Given the description of an element on the screen output the (x, y) to click on. 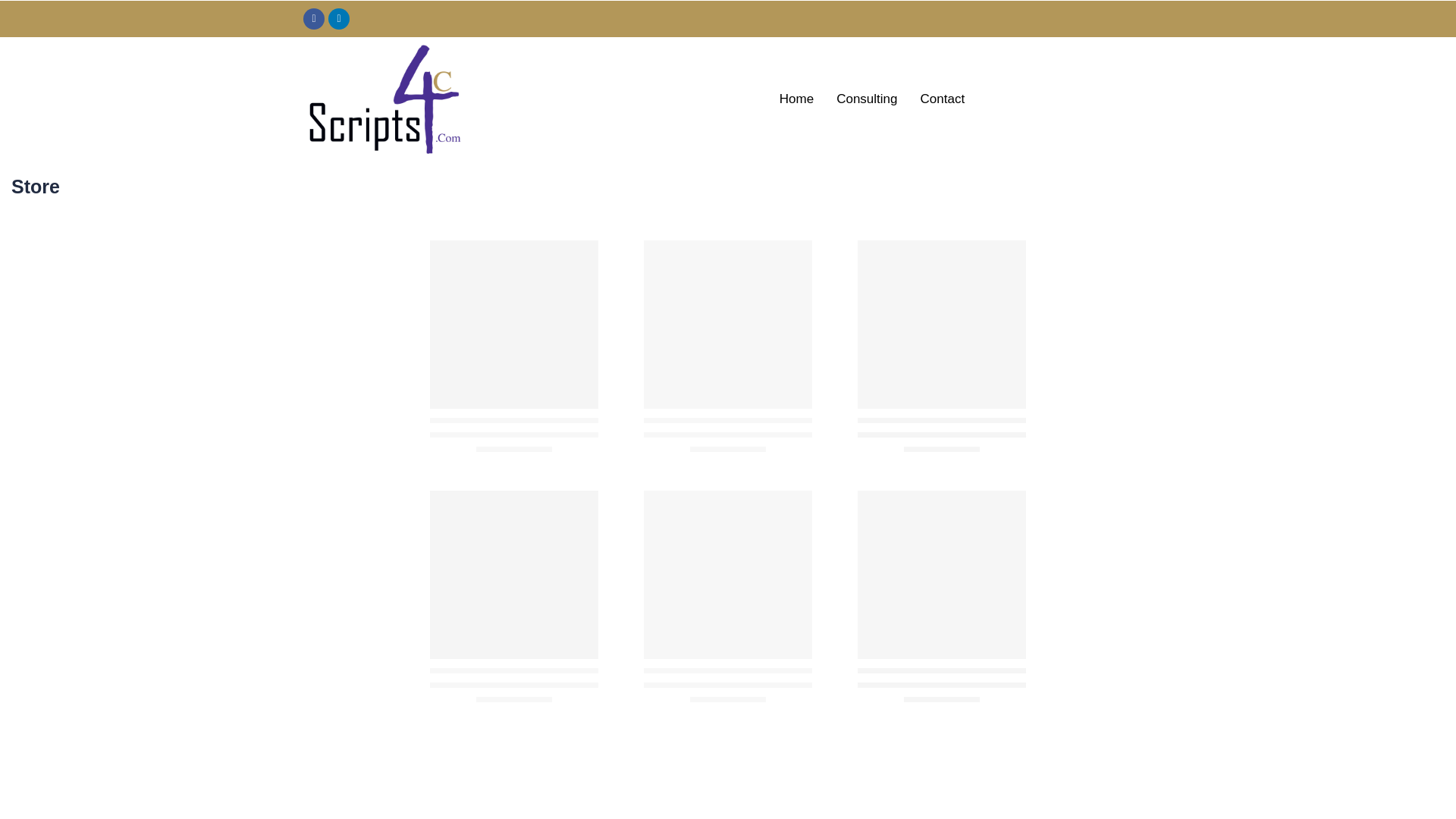
Contact (942, 98)
Home (796, 98)
Consulting (866, 98)
